Given the description of an element on the screen output the (x, y) to click on. 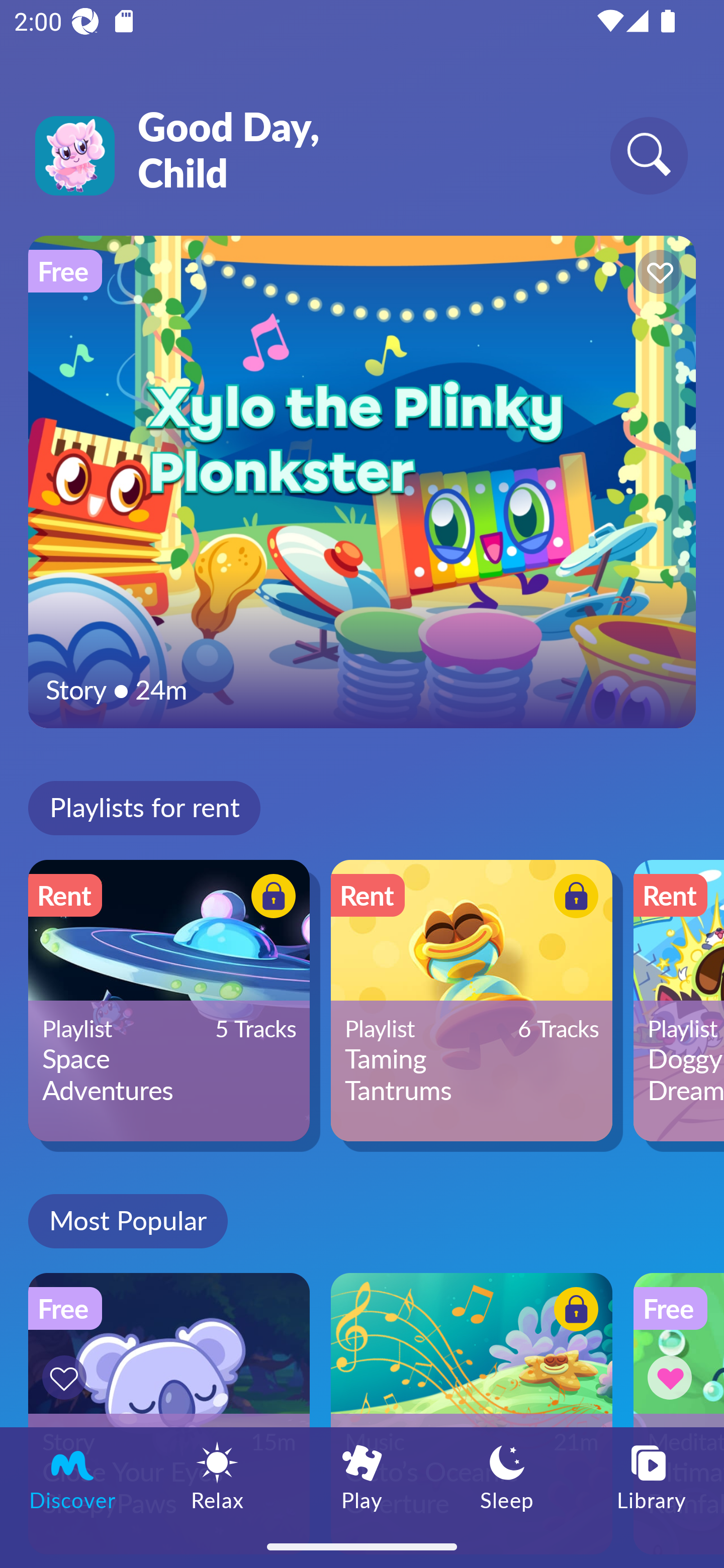
Search (648, 154)
Featured Content Free Button Story ● 24m (361, 481)
Button (656, 274)
Button (269, 898)
Button (573, 898)
Button (573, 1312)
Button (67, 1377)
Button (672, 1377)
Relax (216, 1475)
Play (361, 1475)
Sleep (506, 1475)
Library (651, 1475)
